Given the description of an element on the screen output the (x, y) to click on. 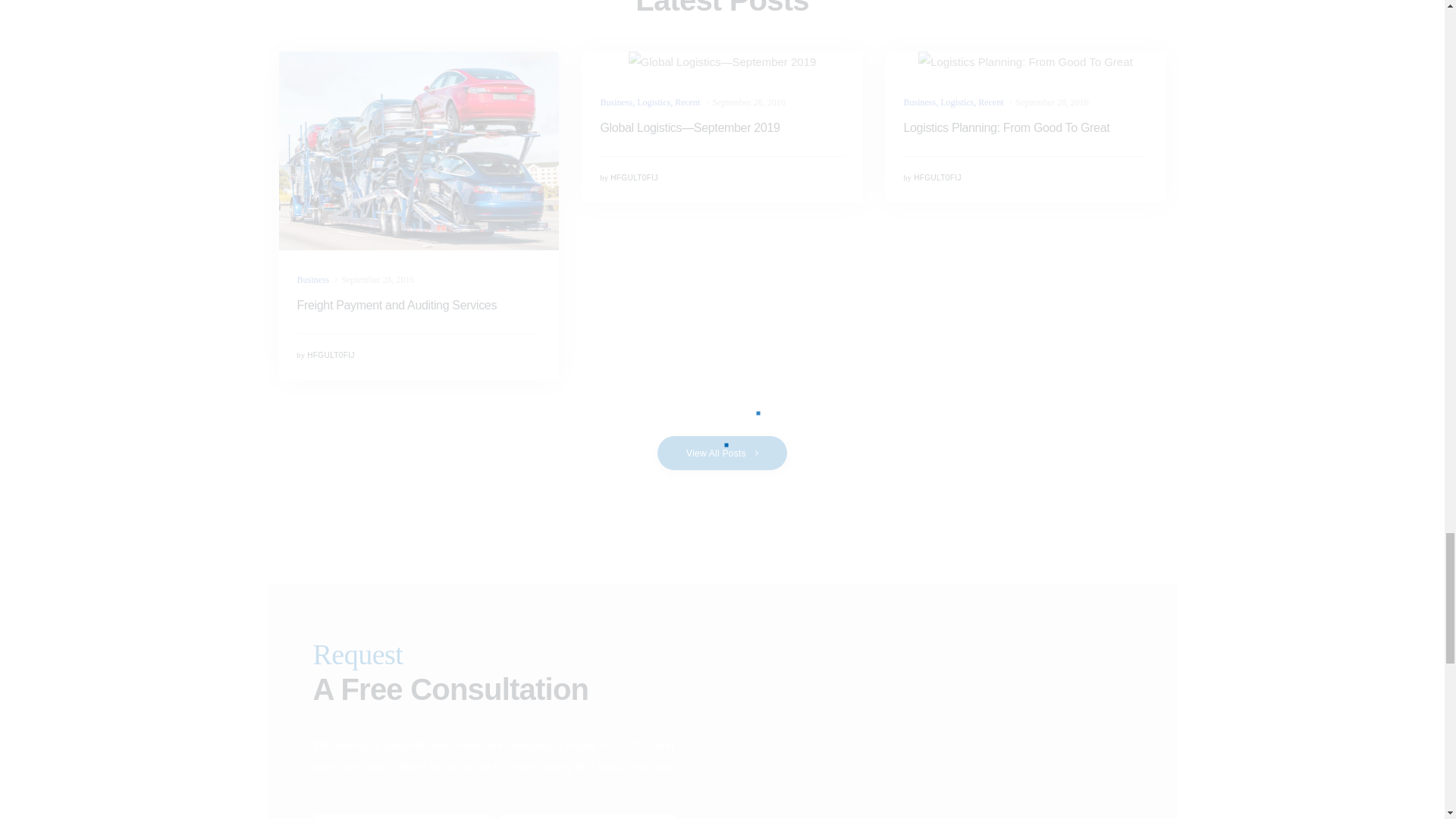
Logistics (653, 102)
September 28, 2016 (747, 102)
Freight Payment and Auditing Services (419, 305)
Recent (687, 102)
Business (313, 279)
Business (615, 102)
September 28, 2016 (376, 279)
by HFGULT0FIJ (326, 355)
